Given the description of an element on the screen output the (x, y) to click on. 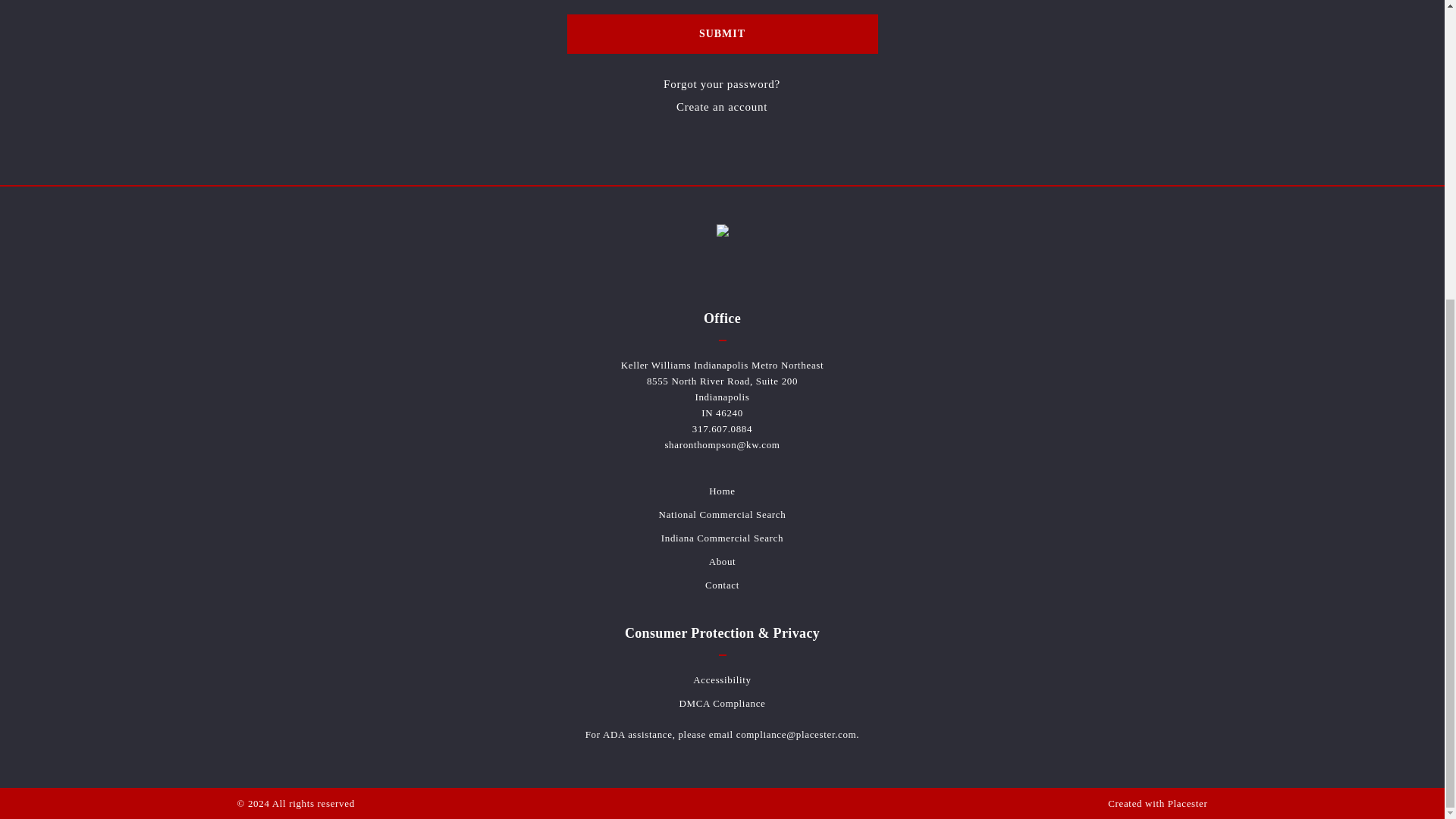
Contact (721, 584)
Placester (1187, 803)
About (722, 561)
DMCA Compliance (721, 703)
Create an account (722, 106)
Accessibility (722, 679)
Indiana Commercial Search (722, 537)
Forgot your password? (721, 83)
317.607.0884 (722, 428)
SUBMIT (722, 33)
